Given the description of an element on the screen output the (x, y) to click on. 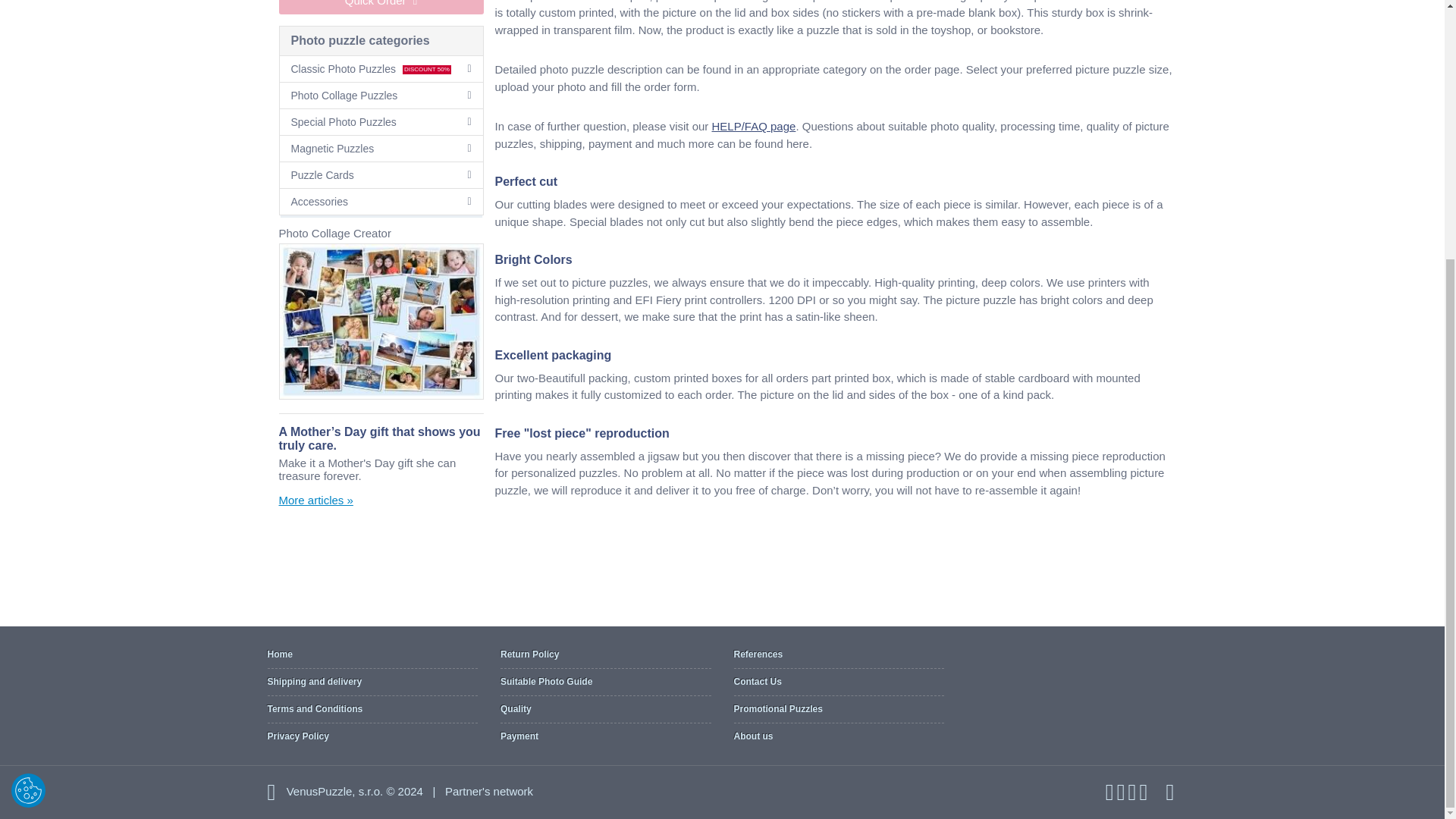
Photo Collage Puzzles (380, 95)
Photo collage  (381, 321)
Quick Order (381, 7)
9 (285, 4)
